Given the description of an element on the screen output the (x, y) to click on. 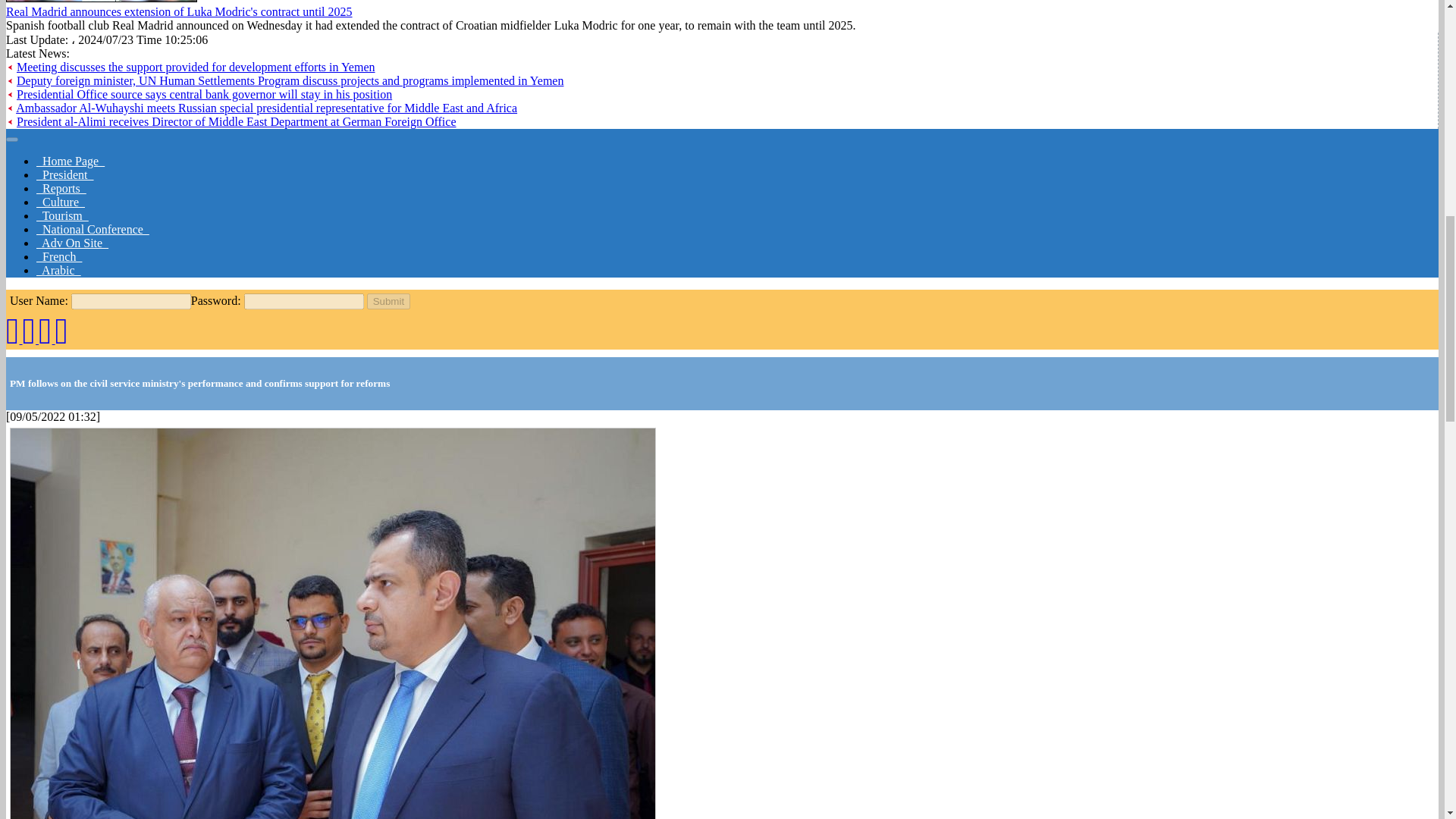
  Arabic   (58, 269)
  Reports   (60, 187)
  President   (65, 174)
Submit (388, 301)
  Home Page   (70, 160)
  Culture   (60, 201)
  Adv On Site   (71, 242)
  National Conference   (92, 228)
  Tourism   (62, 215)
Submit (388, 301)
  French   (58, 256)
